Given the description of an element on the screen output the (x, y) to click on. 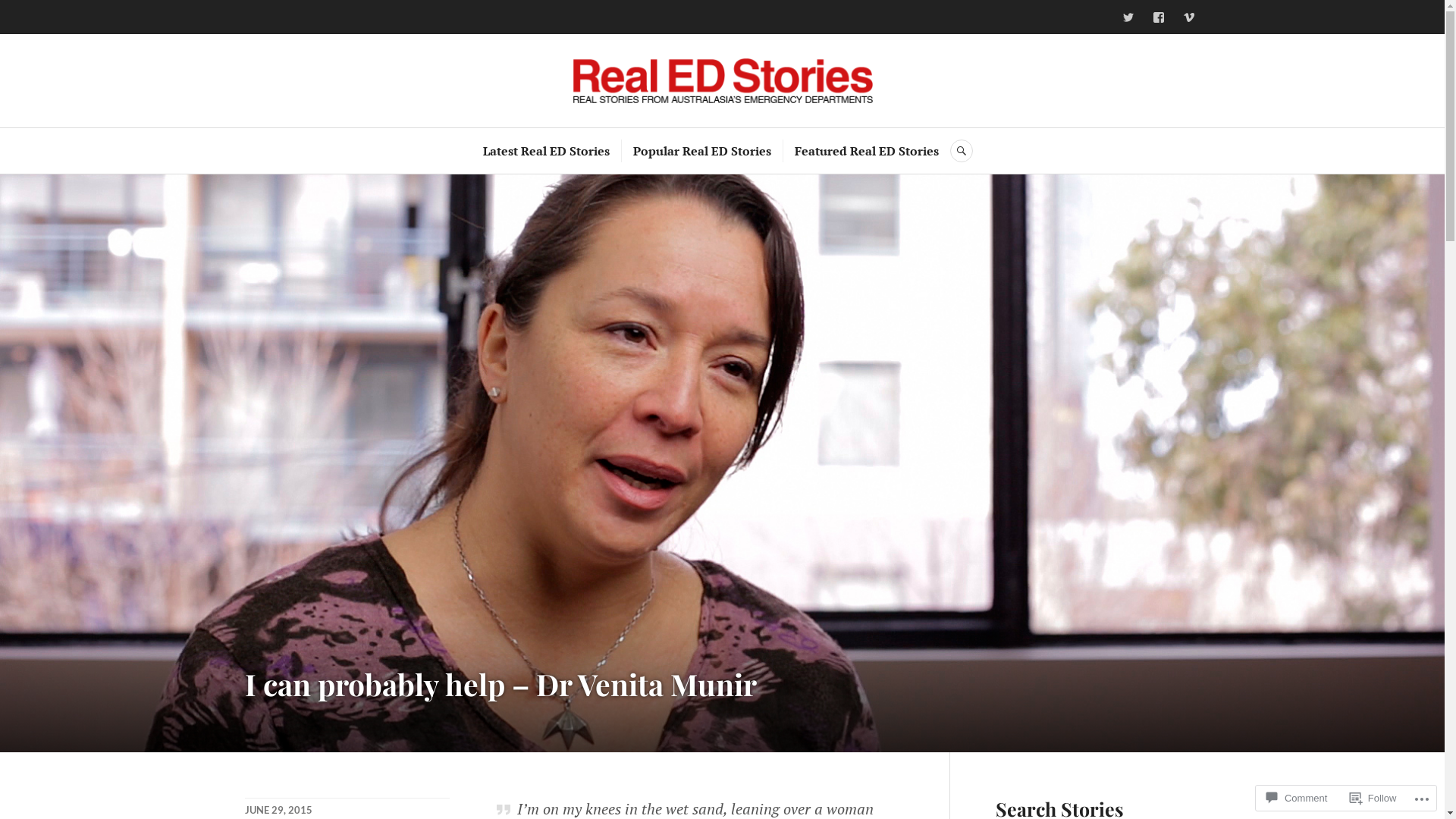
Real ED Stories Element type: text (722, 79)
Featured Real ED Stories Element type: text (866, 150)
Latest Real ED Stories Element type: text (546, 150)
Popular Real ED Stories Element type: text (702, 150)
JUNE 29, 2015 Element type: text (277, 809)
Follow Element type: text (1372, 797)
Comment Element type: text (1296, 797)
